Given the description of an element on the screen output the (x, y) to click on. 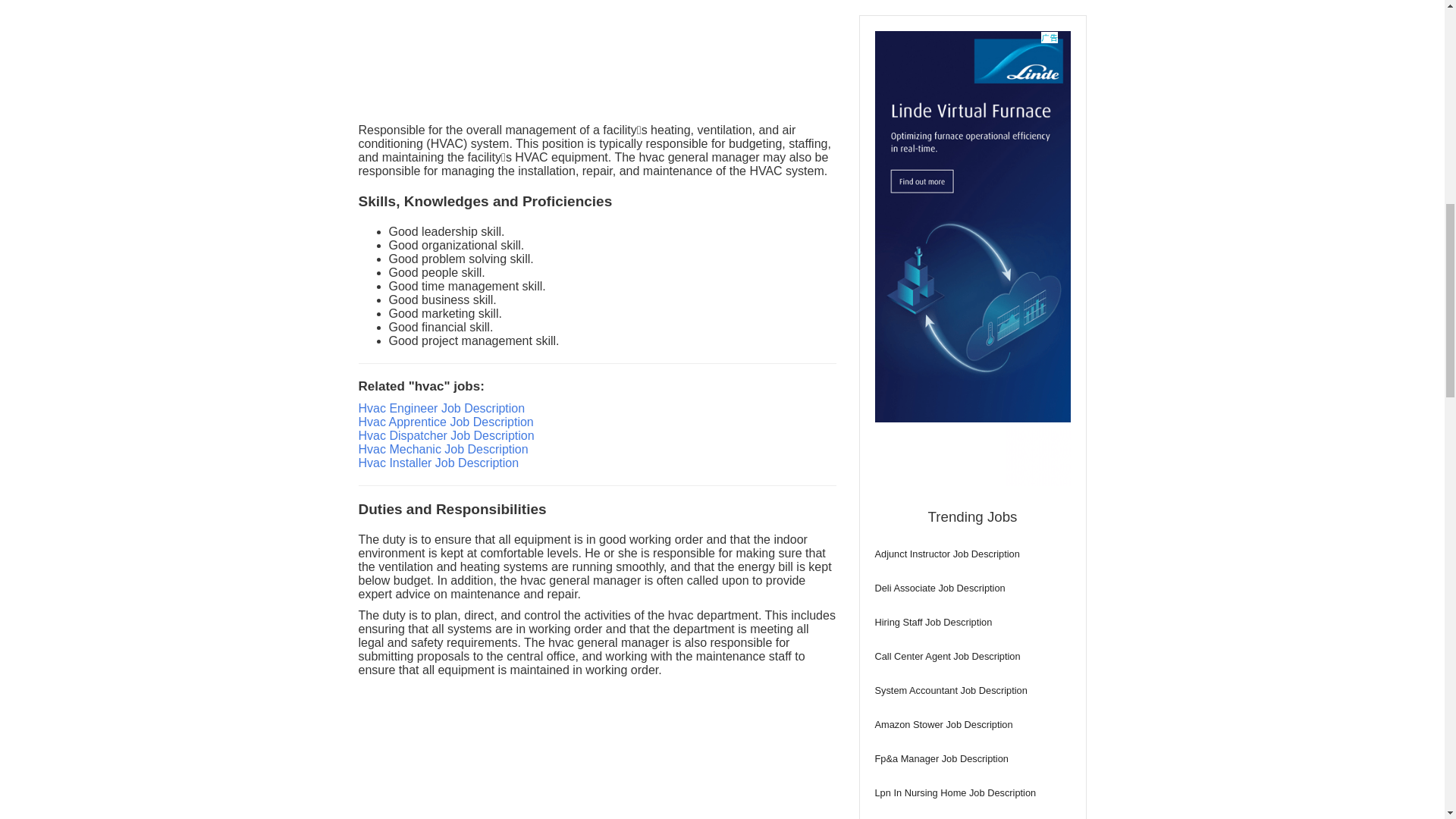
Deli Associate Job Description (972, 3)
Hvac Apprentice Job Description (445, 421)
Advertisement (596, 58)
Hvac Engineer Job Description (441, 408)
Cmo Job Description (972, 274)
Hiring Staff Job Description (972, 35)
Hvac Mechanic Job Description (442, 449)
Advertisement (596, 751)
Hvac Dispatcher Job Description (446, 435)
System Accountant Job Description (972, 103)
Lpn In Nursing Home Job Description (972, 206)
Hvac Installer Job Description (438, 462)
Early Years Practitioner Job Description (972, 240)
Call Center Agent Job Description (972, 70)
Amazon Stower Job Description (972, 138)
